Given the description of an element on the screen output the (x, y) to click on. 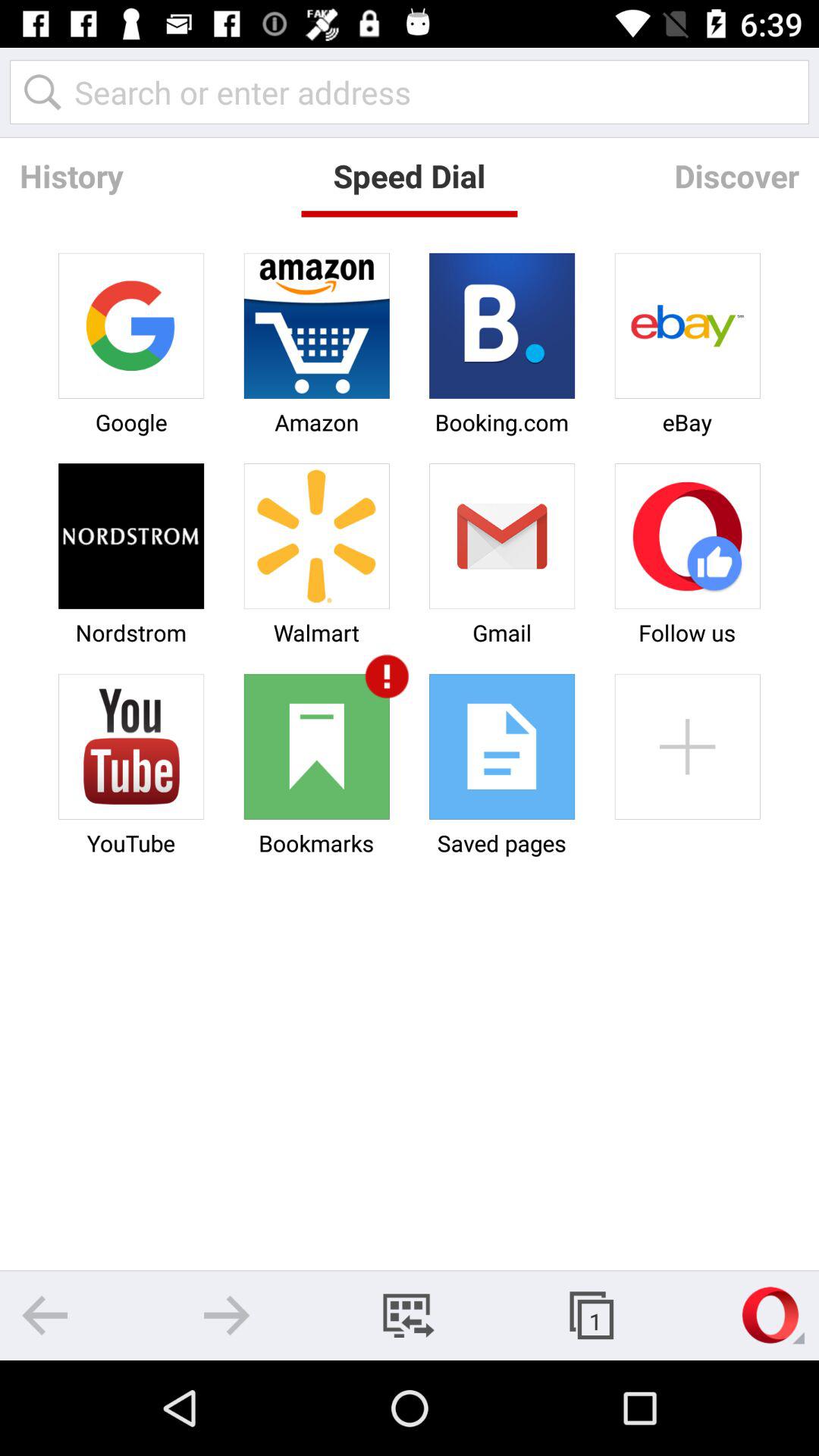
turn on item to the right of the speed dial icon (736, 175)
